Given the description of an element on the screen output the (x, y) to click on. 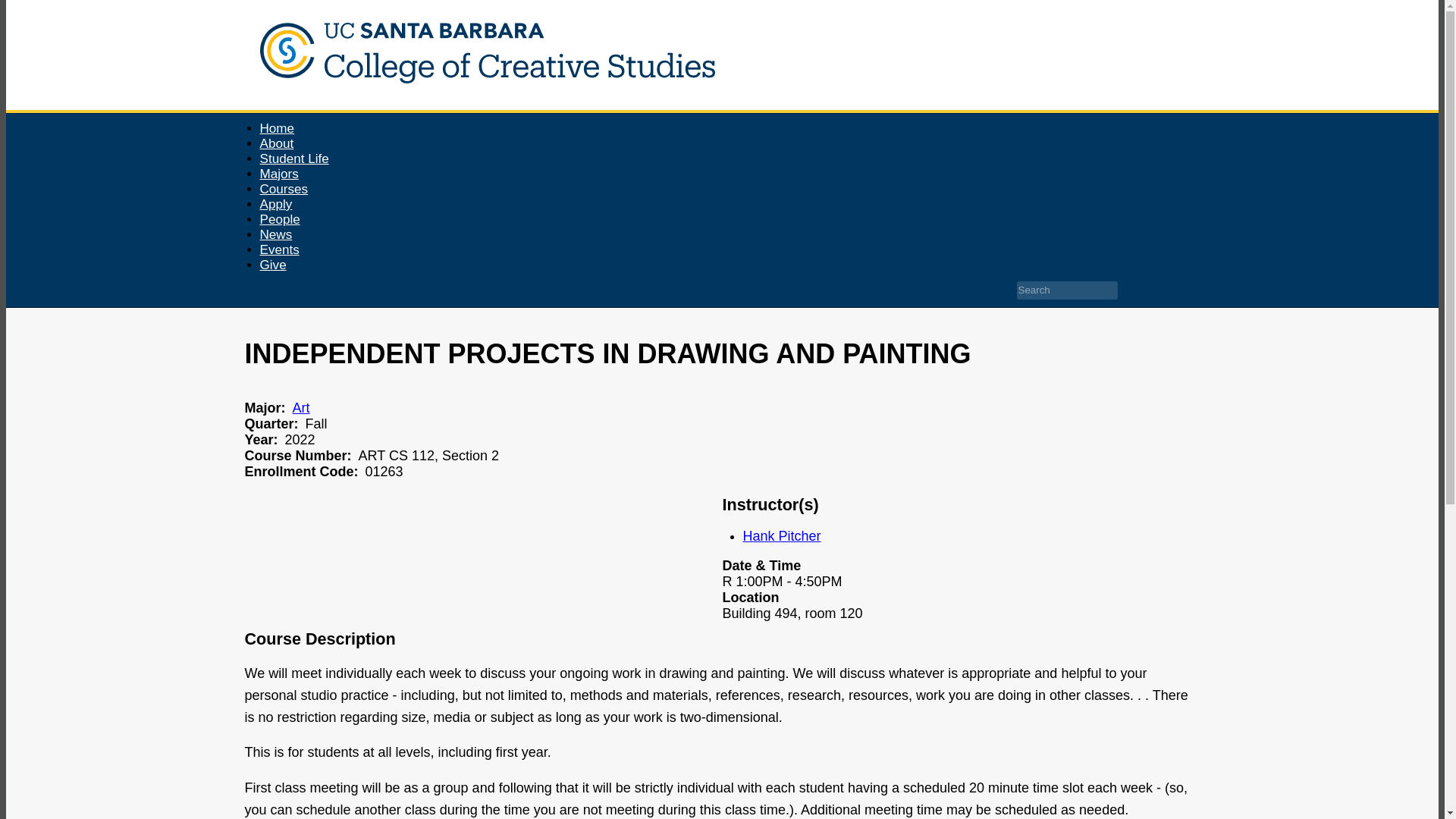
Home (479, 101)
Hank Pitcher (781, 535)
Apply (275, 204)
Art (301, 407)
Majors (278, 173)
Home (276, 128)
News (275, 234)
Events (278, 250)
Give (272, 264)
Student Life (294, 158)
Enter the terms you wish to search for. (1066, 290)
About (276, 143)
Courses (283, 188)
